Given the description of an element on the screen output the (x, y) to click on. 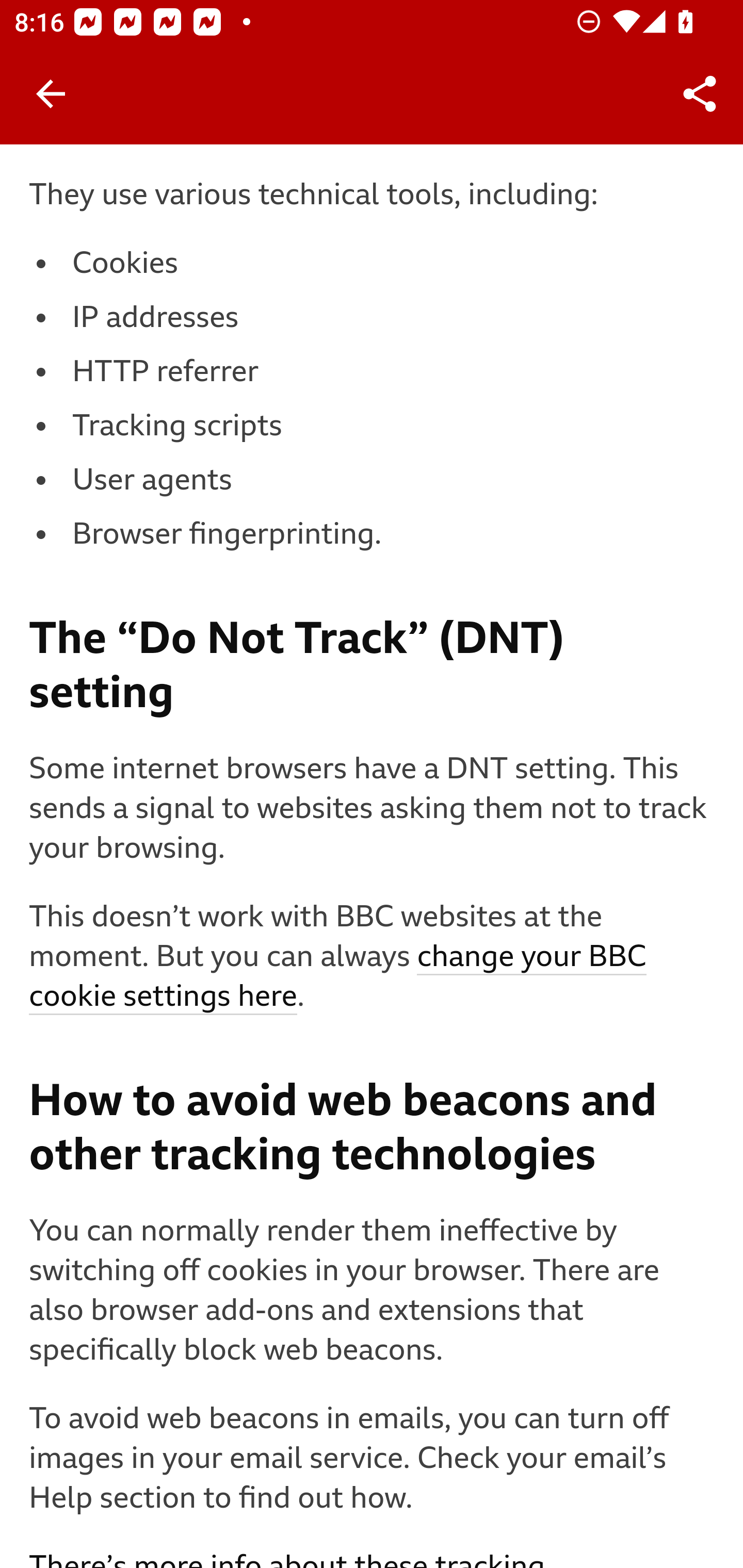
Back (50, 93)
Share (699, 93)
change your BBC cookie settings here (337, 978)
